Given the description of an element on the screen output the (x, y) to click on. 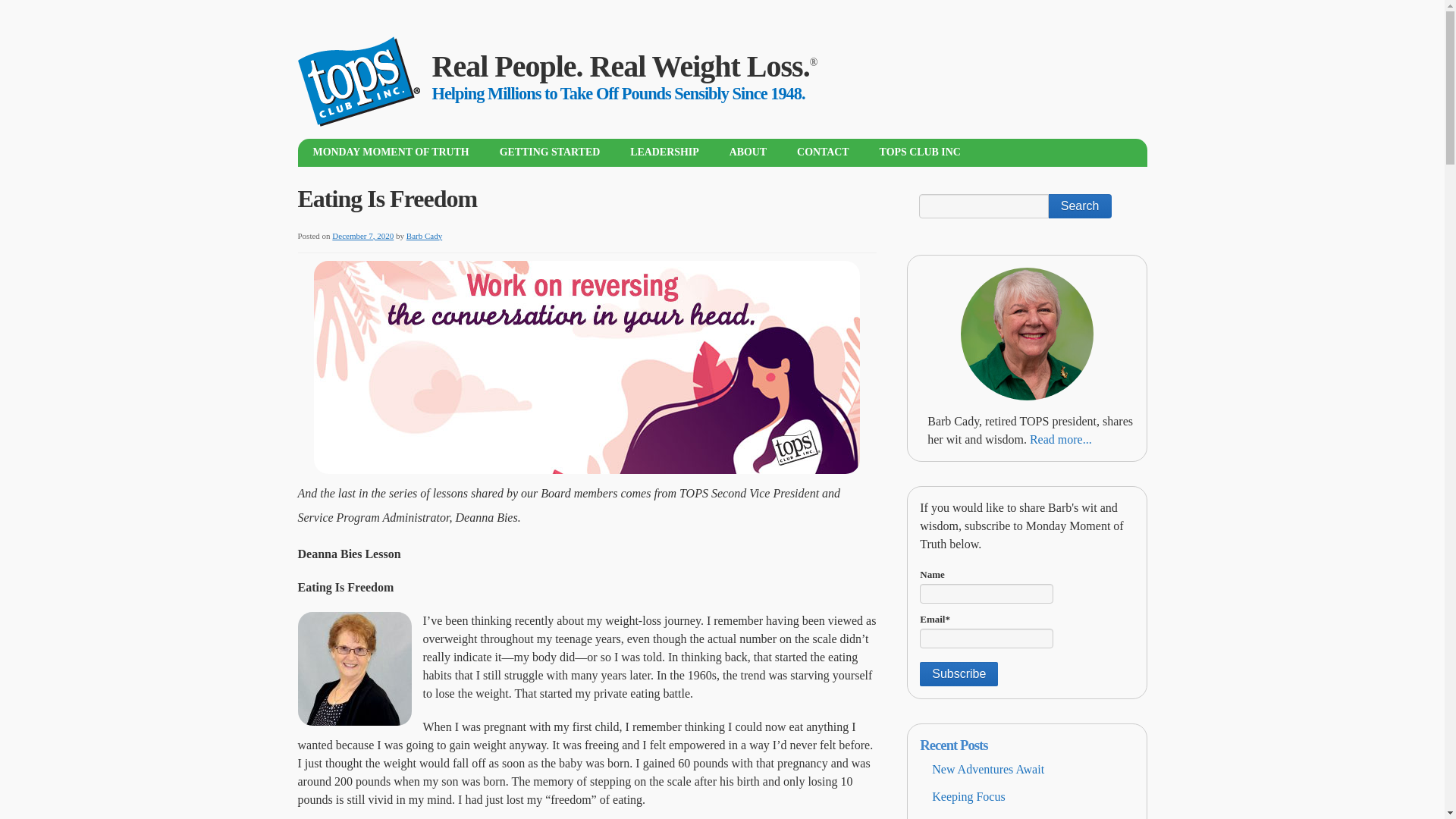
GETTING STARTED (549, 152)
View all posts by Barb Cady (424, 234)
LEADERSHIP (663, 152)
TOPS CLUB INC (919, 152)
ABOUT (747, 152)
CONTACT (822, 152)
MONDAY MOMENT OF TRUTH (390, 152)
Barb Cady (424, 234)
Search (1080, 206)
December 7, 2020 (362, 234)
7:28 am (362, 234)
Subscribe (958, 673)
